Given the description of an element on the screen output the (x, y) to click on. 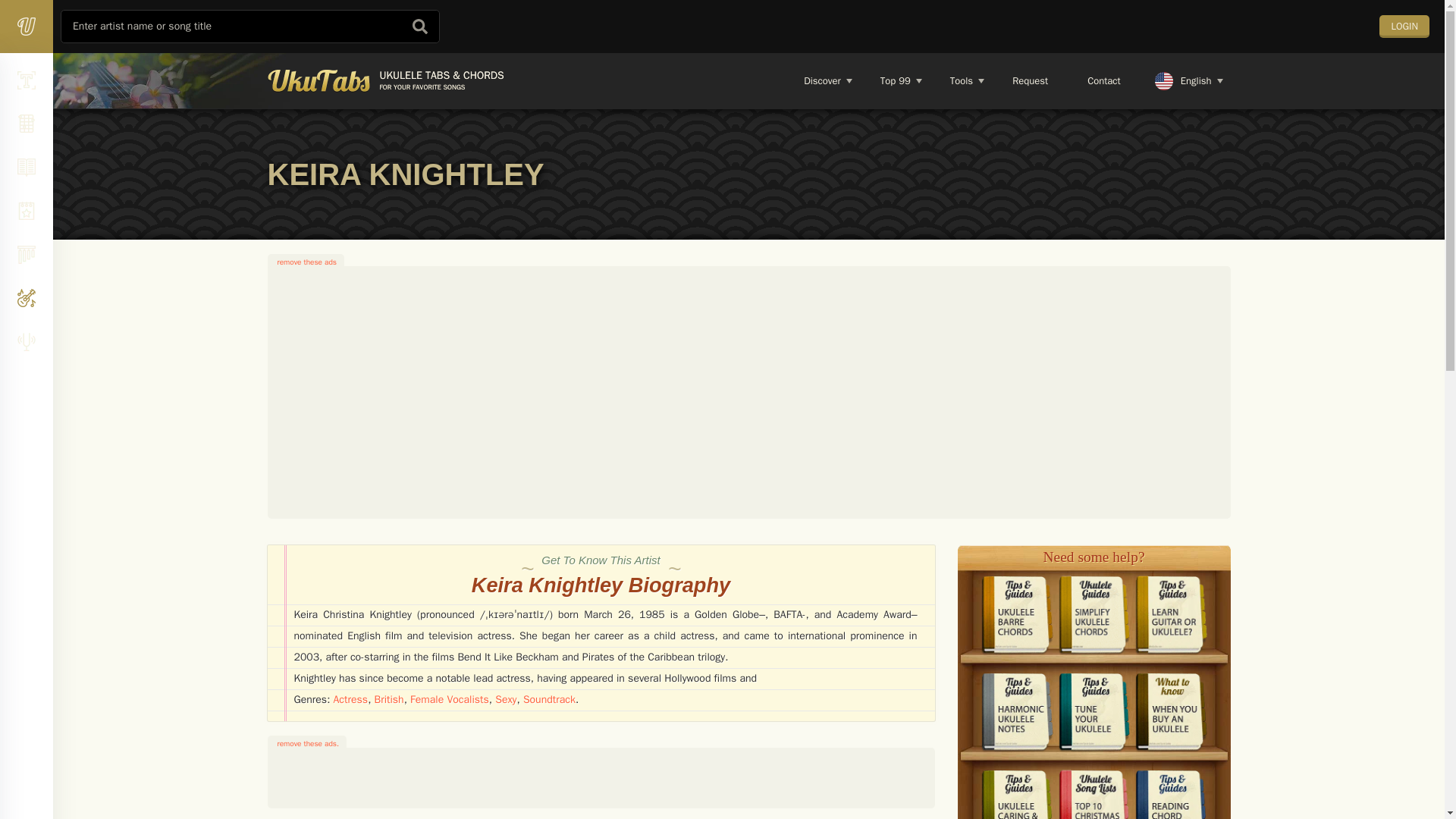
ukulele tools (960, 80)
Top 99 (895, 80)
discover ukulele songs (821, 80)
Top 99 songs on UkuTabs (895, 80)
LOGIN (1006, 80)
Discover (1403, 26)
